Given the description of an element on the screen output the (x, y) to click on. 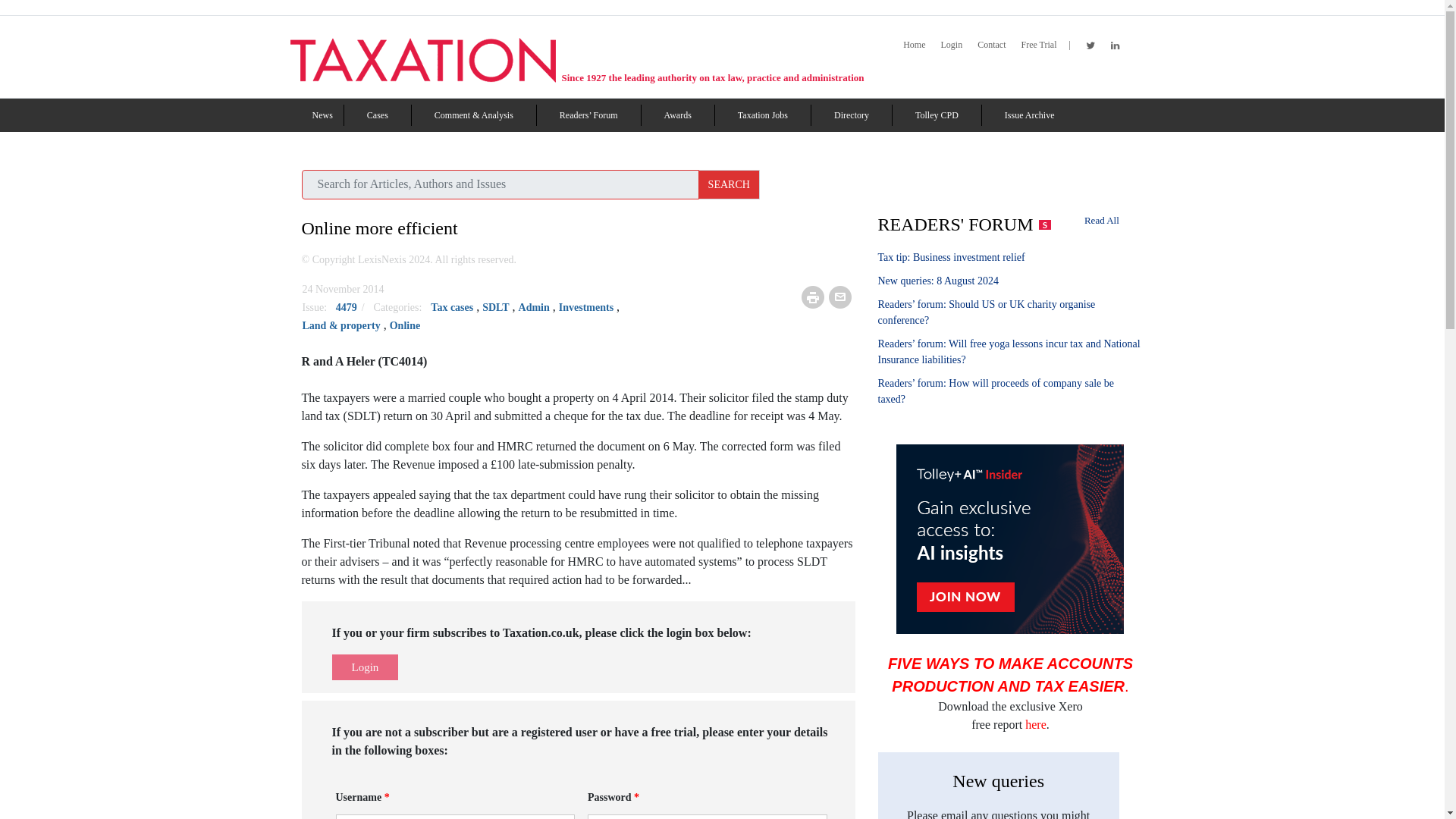
News (323, 115)
4479 (347, 307)
Home (913, 44)
Cases (377, 115)
Taxation Awards (677, 115)
Tax cases (451, 307)
Contact (991, 44)
Tax cases (377, 115)
Directory (851, 115)
Directory (851, 115)
